Given the description of an element on the screen output the (x, y) to click on. 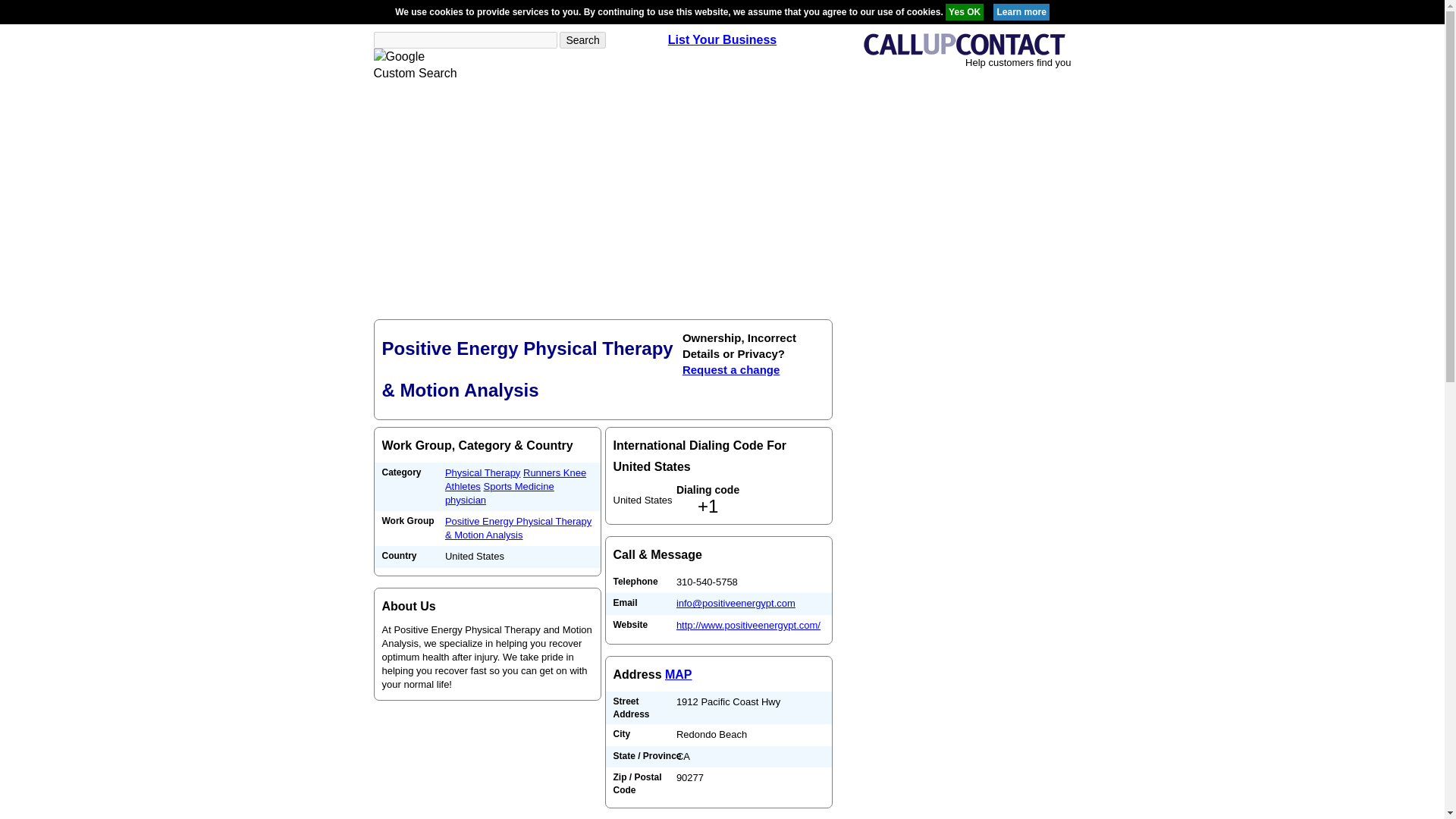
Request a change (730, 369)
Yes OK (964, 12)
MAP (679, 674)
Search (582, 39)
Physical Therapy (482, 472)
Sports Medicine physician (499, 493)
Search (582, 39)
List Your Business (722, 39)
Learn more (1020, 12)
Athletes (462, 486)
Runners Knee (554, 472)
